Given the description of an element on the screen output the (x, y) to click on. 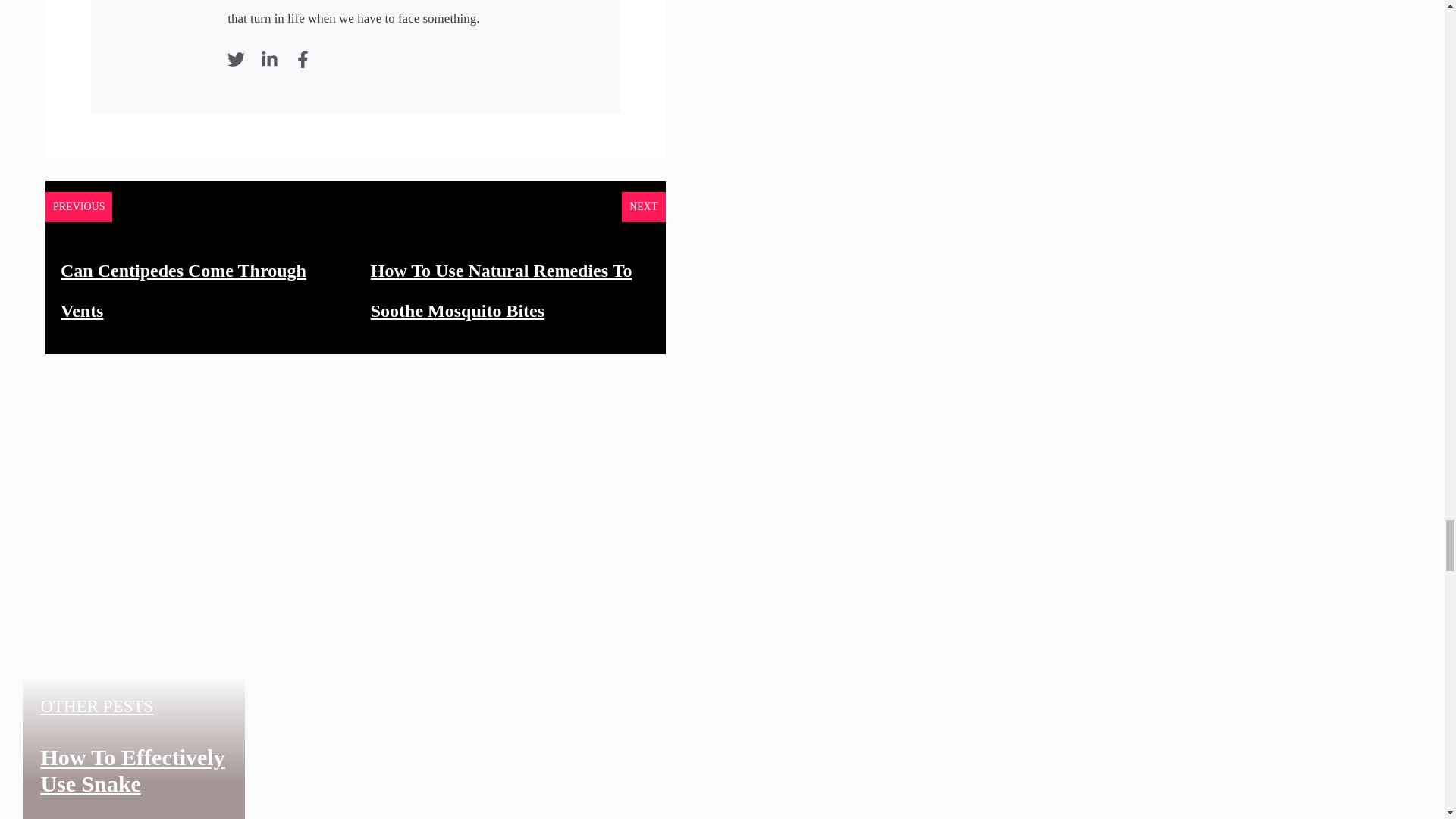
Can Centipedes Come Through Vents (183, 291)
OTHER PESTS (96, 705)
How To Use Natural Remedies To Soothe Mosquito Bites (501, 291)
How To Effectively Use Snake Repellents (132, 781)
